Given the description of an element on the screen output the (x, y) to click on. 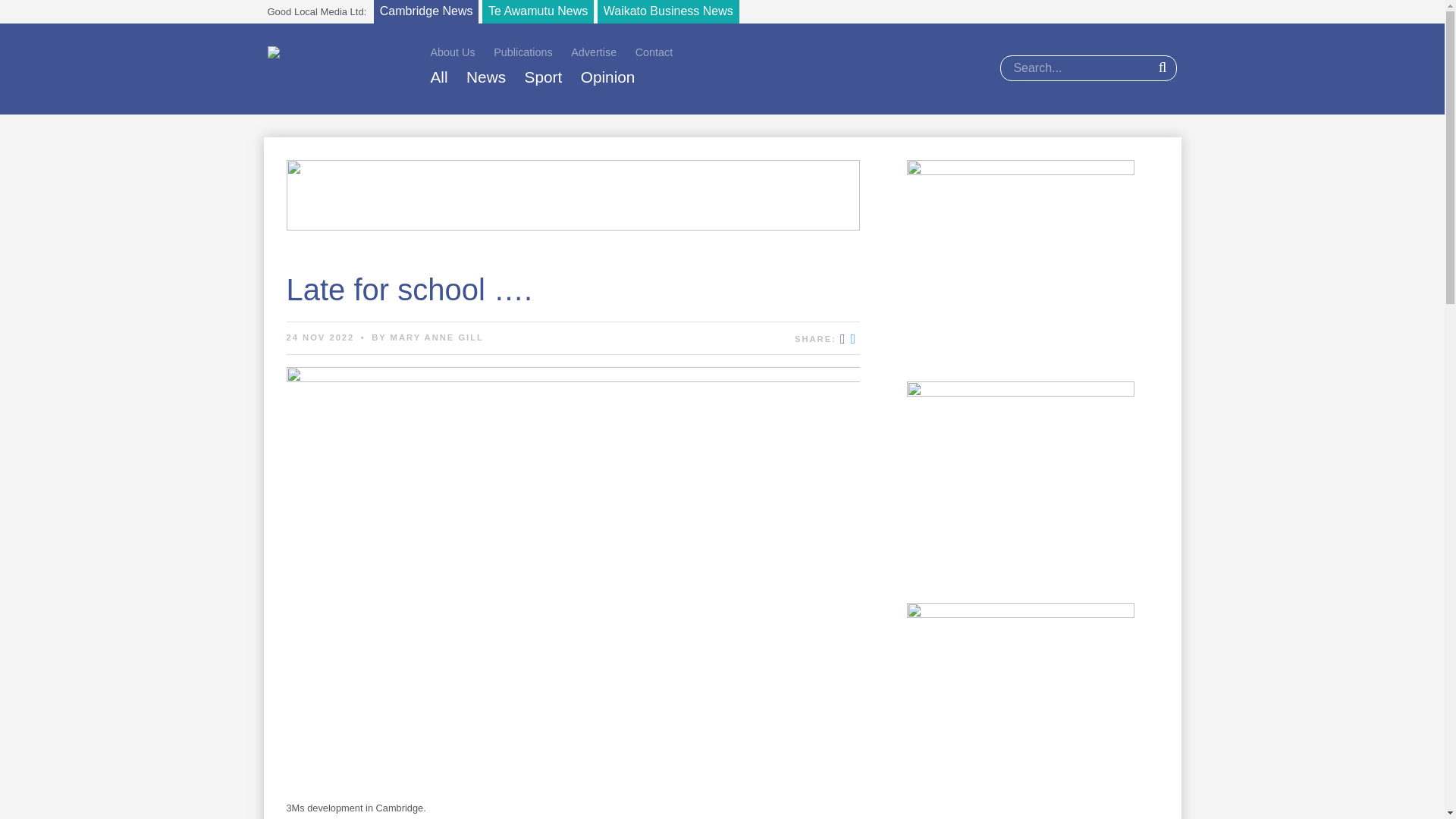
Sport (543, 76)
All (439, 76)
Te Awamutu News (537, 11)
Advertise (592, 51)
Contact (653, 51)
About Us (453, 51)
Publications (523, 51)
Opinion (607, 76)
Waikato Business News (667, 11)
News (485, 76)
